Given the description of an element on the screen output the (x, y) to click on. 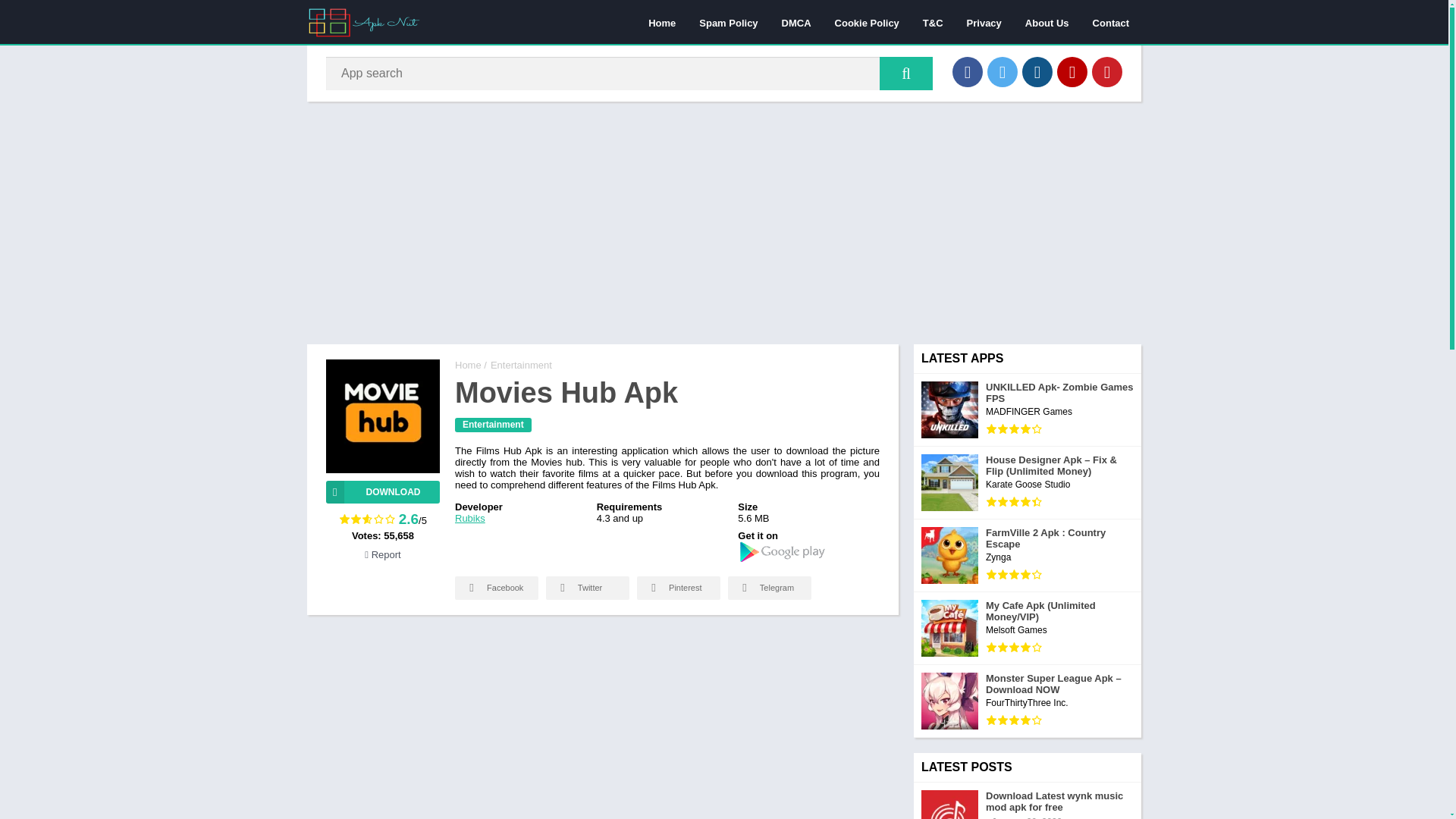
YouTube (1072, 71)
Advertisement (602, 724)
Pinterest (1107, 71)
Twitter (1002, 71)
Apk Nut (467, 365)
Facebook (967, 71)
Download (382, 491)
Instagram (1037, 71)
